Given the description of an element on the screen output the (x, y) to click on. 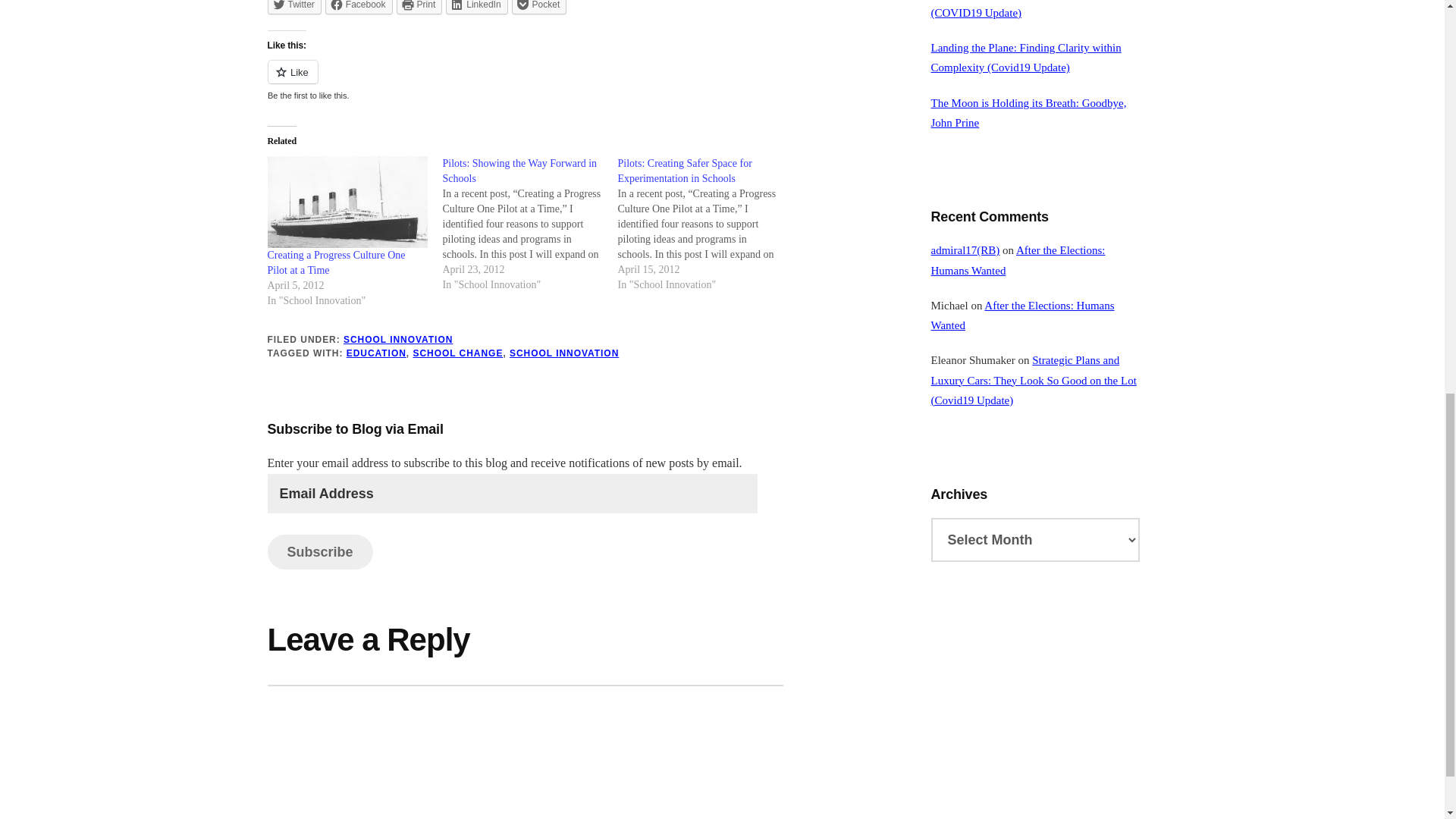
Print (419, 7)
Click to share on Pocket (539, 7)
Click to share on Twitter (293, 7)
Click to print (419, 7)
Creating a Progress Culture One Pilot at a Time (335, 262)
Pilots: Showing the Way Forward in Schools (519, 171)
EDUCATION (376, 353)
Twitter (293, 7)
Subscribe (319, 551)
Pilots: Creating Safer Space for Experimentation in Schools (704, 224)
SCHOOL CHANGE (457, 353)
Creating a Progress Culture One Pilot at a Time (335, 262)
SCHOOL INNOVATION (397, 339)
LinkedIn (475, 7)
Pilots: Showing the Way Forward in Schools (529, 224)
